Given the description of an element on the screen output the (x, y) to click on. 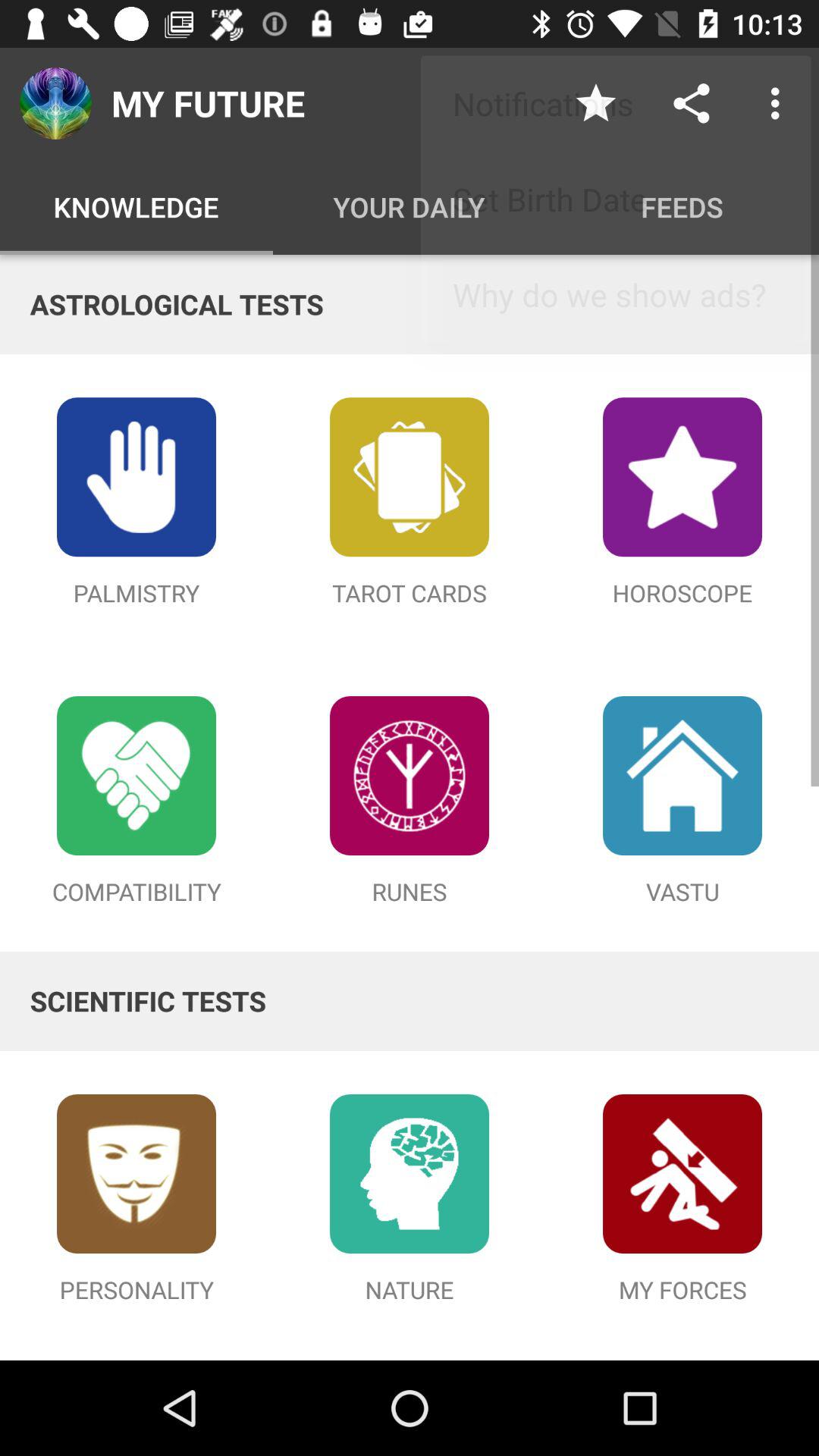
click on the palmistry icon (136, 476)
select the image just above text tarot cards (409, 476)
select the star image option above the text horoscope (682, 476)
